Given the description of an element on the screen output the (x, y) to click on. 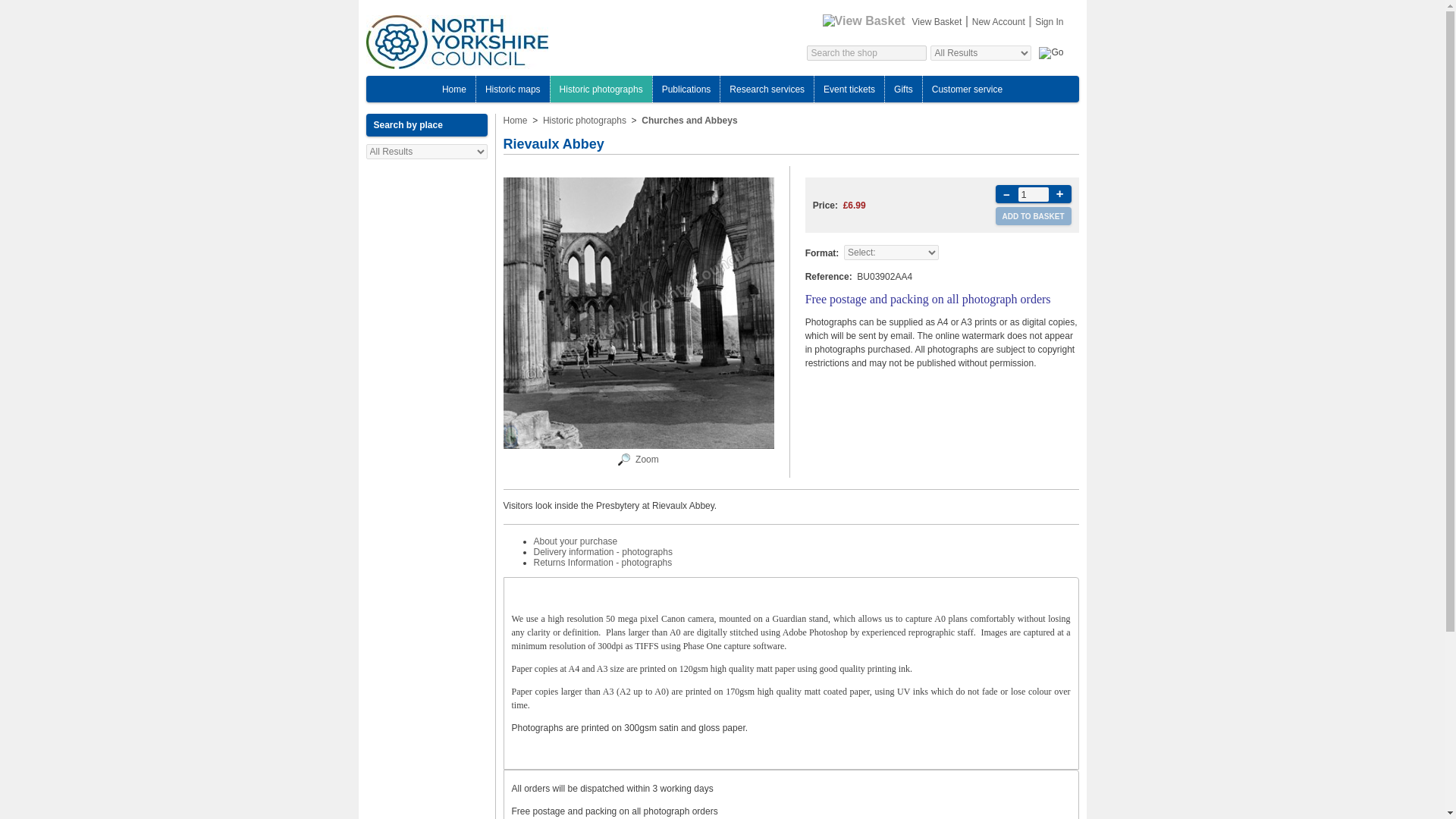
1 (1032, 193)
Historic photographs (601, 88)
Publications (686, 88)
Go (1050, 52)
Event tickets (849, 88)
Delivery information - photographs (603, 552)
Rievaulx Abbey (623, 462)
Historic maps (512, 88)
New Account (998, 21)
Zoom (646, 459)
Research services (767, 88)
View Basket (937, 21)
Sign In (1048, 21)
Gifts (902, 88)
Home (453, 88)
